Given the description of an element on the screen output the (x, y) to click on. 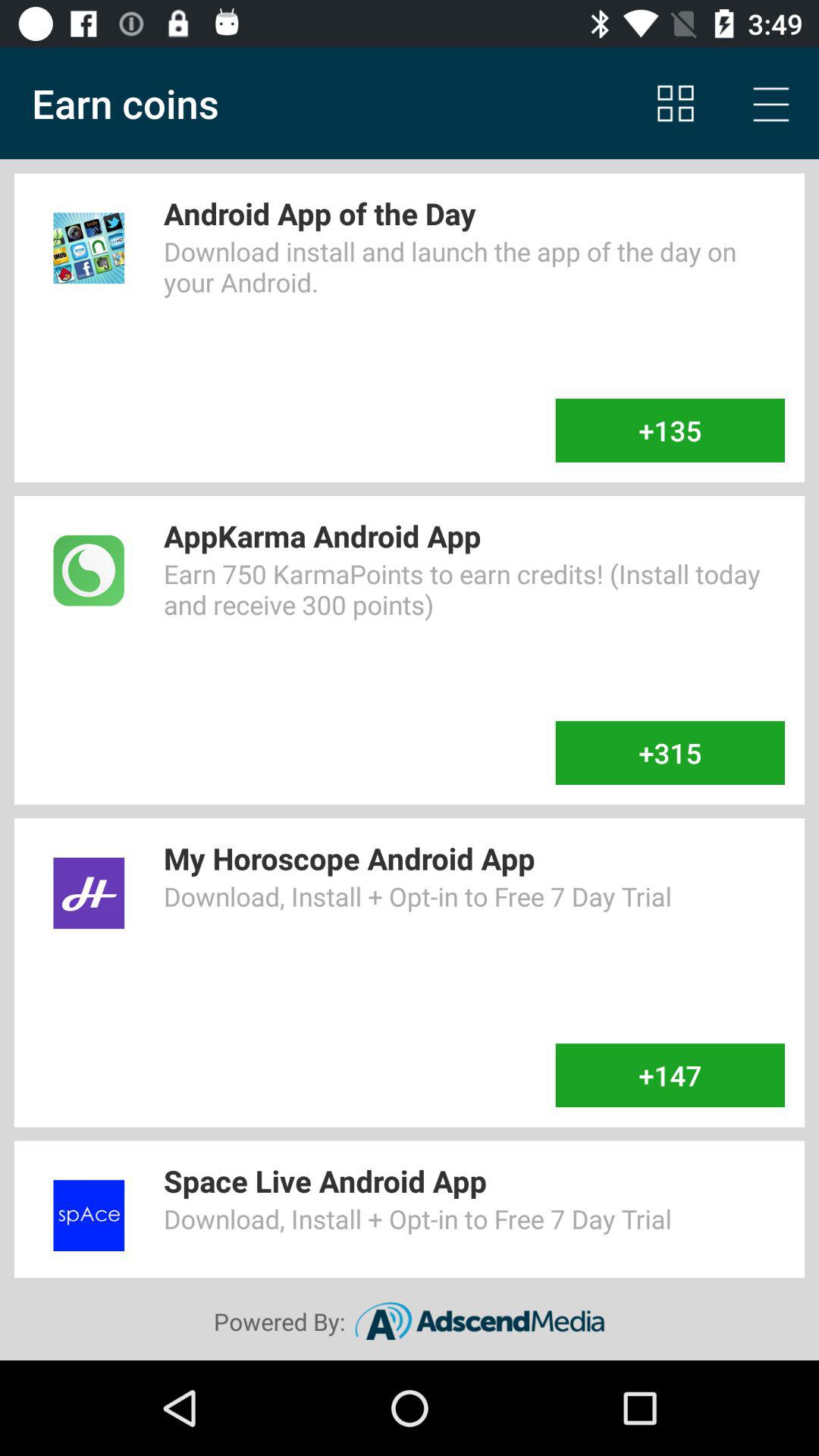
choose icon above the android app of (771, 103)
